Given the description of an element on the screen output the (x, y) to click on. 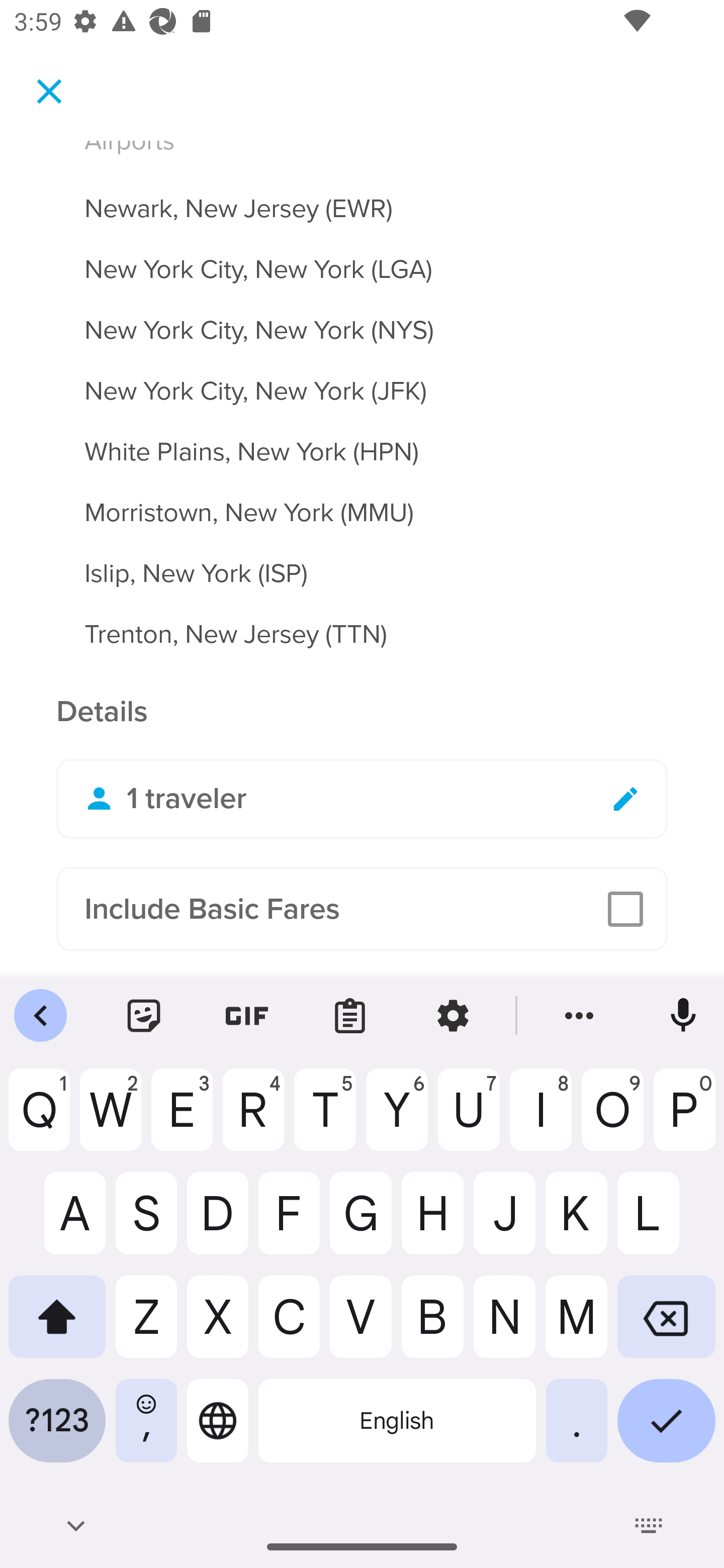
Cancel (49, 90)
Newark, New Jersey (EWR) (361, 196)
New York City, New York (LGA) (361, 257)
New York City, New York (NYS) (361, 318)
New York City, New York (JFK) (361, 379)
White Plains, New York (HPN) (361, 440)
Morristown, New York (MMU) (361, 500)
Islip, New York (ISP) (361, 561)
Trenton, New Jersey (TTN) (361, 634)
1 traveler Edit Travelers (361, 799)
Include Basic Fares (361, 909)
